Given the description of an element on the screen output the (x, y) to click on. 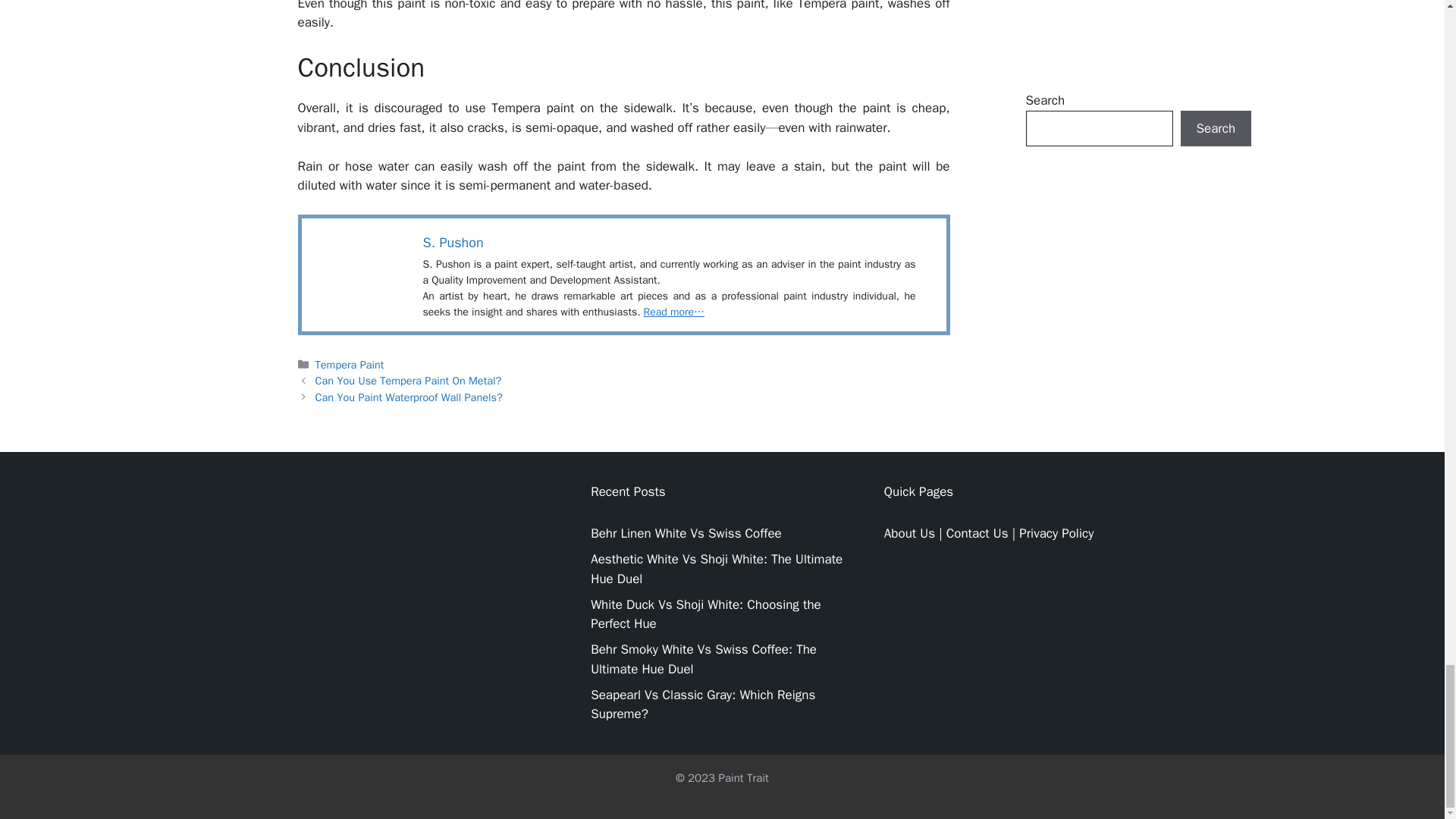
S. Pushon (453, 242)
